Given the description of an element on the screen output the (x, y) to click on. 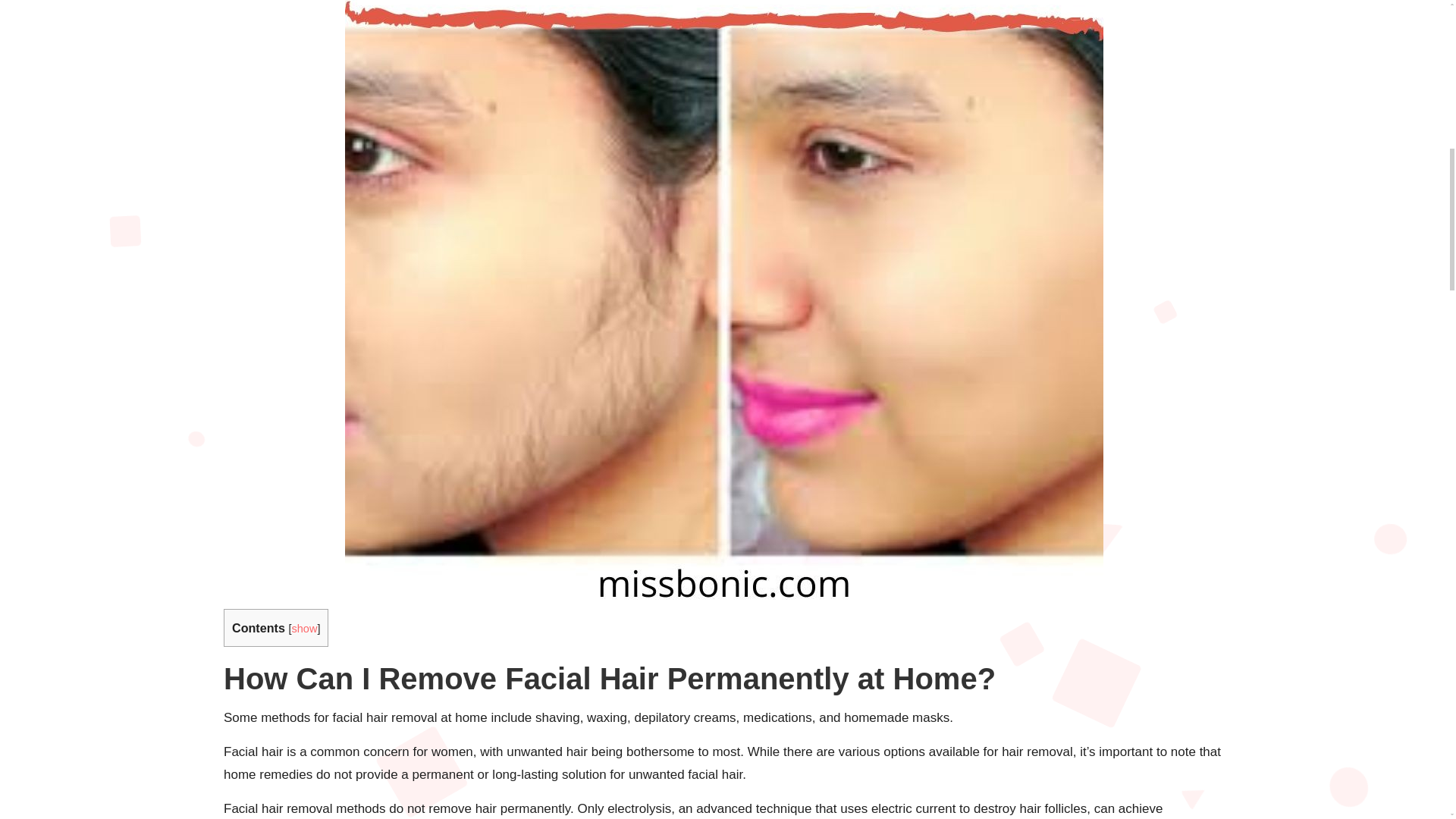
show (304, 628)
